Given the description of an element on the screen output the (x, y) to click on. 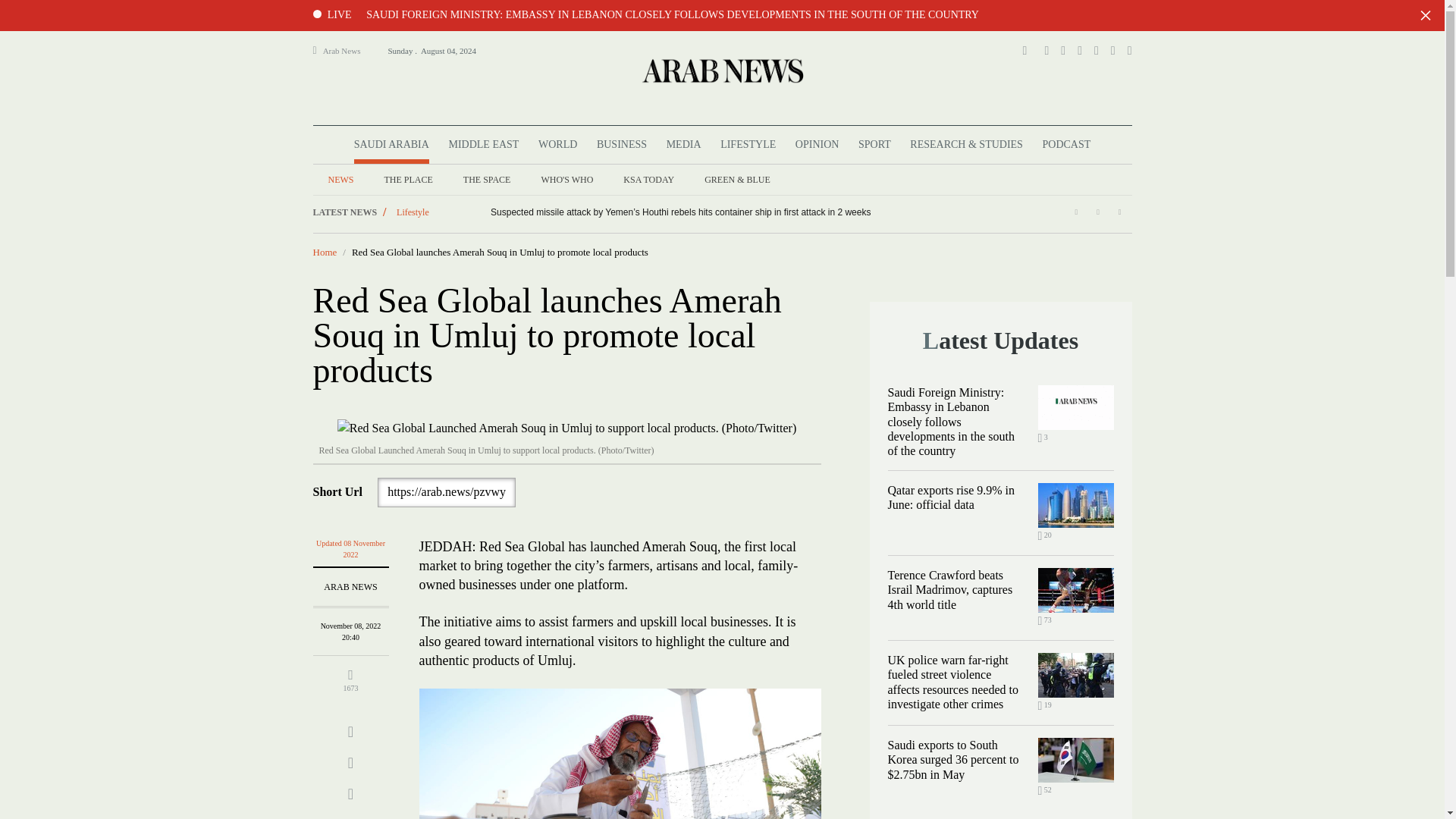
Arabnews (721, 70)
Arab News (348, 50)
Terence Crawford wins fourth world title. supplied (1074, 590)
